Given the description of an element on the screen output the (x, y) to click on. 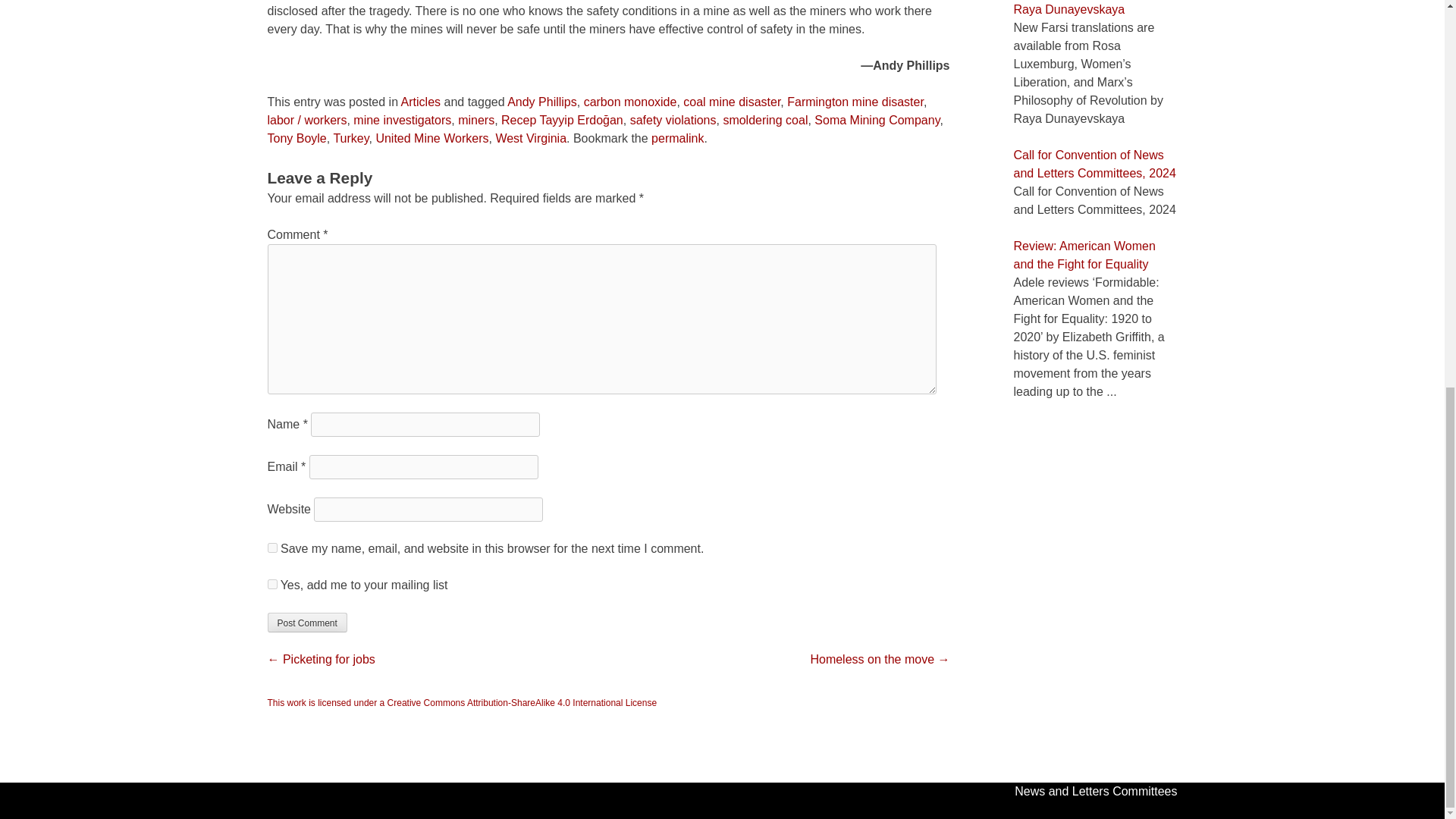
Turkey (350, 137)
carbon monoxide (630, 101)
Post Comment (306, 622)
Articles (421, 101)
Tony Boyle (296, 137)
United Mine Workers (431, 137)
smoldering coal (765, 119)
yes (271, 547)
Farmington mine disaster (855, 101)
permalink (676, 137)
Soma Mining Company (876, 119)
safety violations (673, 119)
Andy Phillips (541, 101)
1 (271, 583)
